Given the description of an element on the screen output the (x, y) to click on. 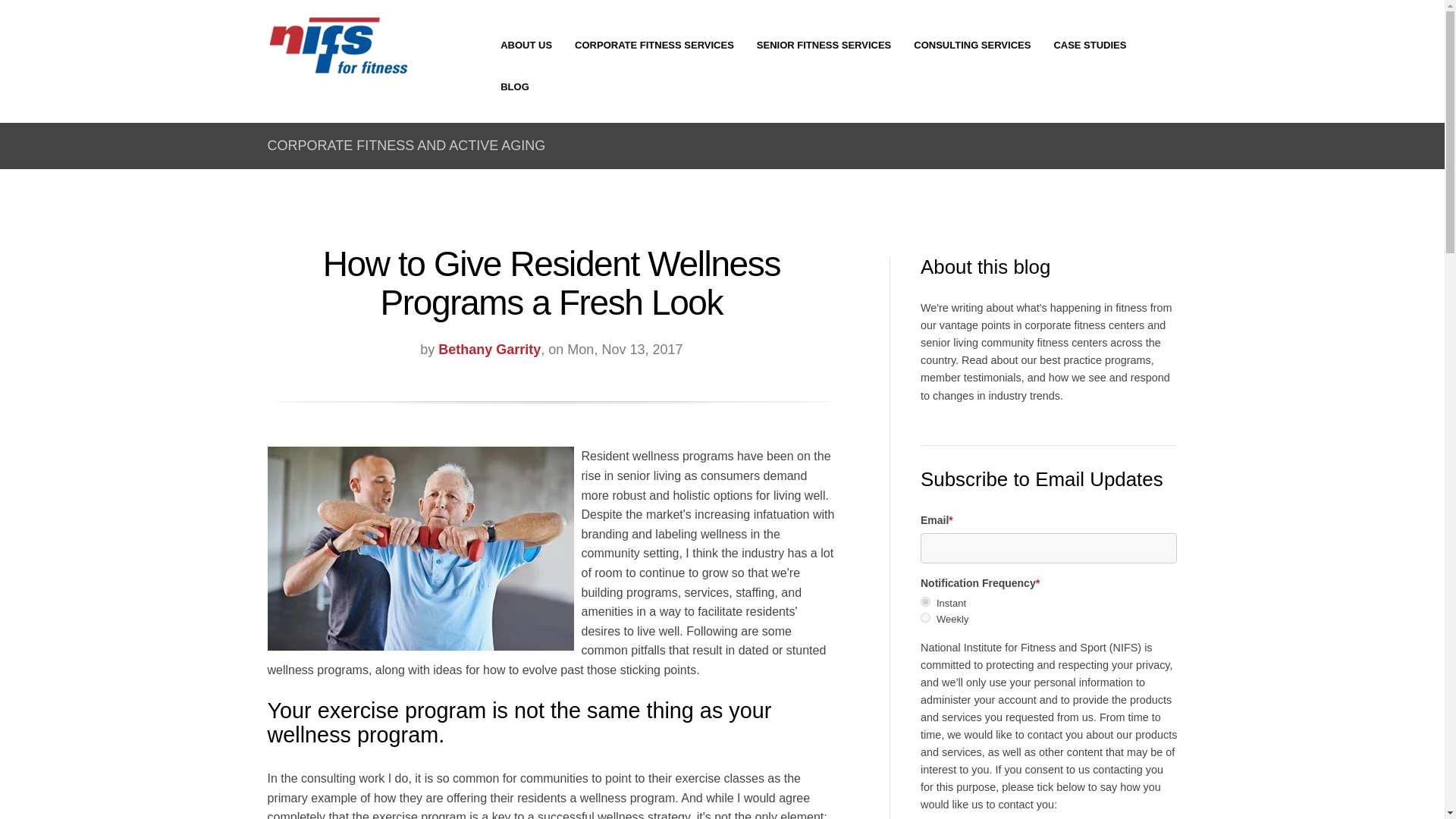
ABOUT US (525, 45)
BLOG (514, 86)
CASE STUDIES (1088, 45)
instant (925, 601)
CORPORATE FITNESS SERVICES (654, 45)
CONSULTING SERVICES (972, 45)
Bethany Garrity (489, 349)
weekly (925, 617)
SENIOR FITNESS SERVICES (824, 45)
nifs for fitness (336, 45)
